Given the description of an element on the screen output the (x, y) to click on. 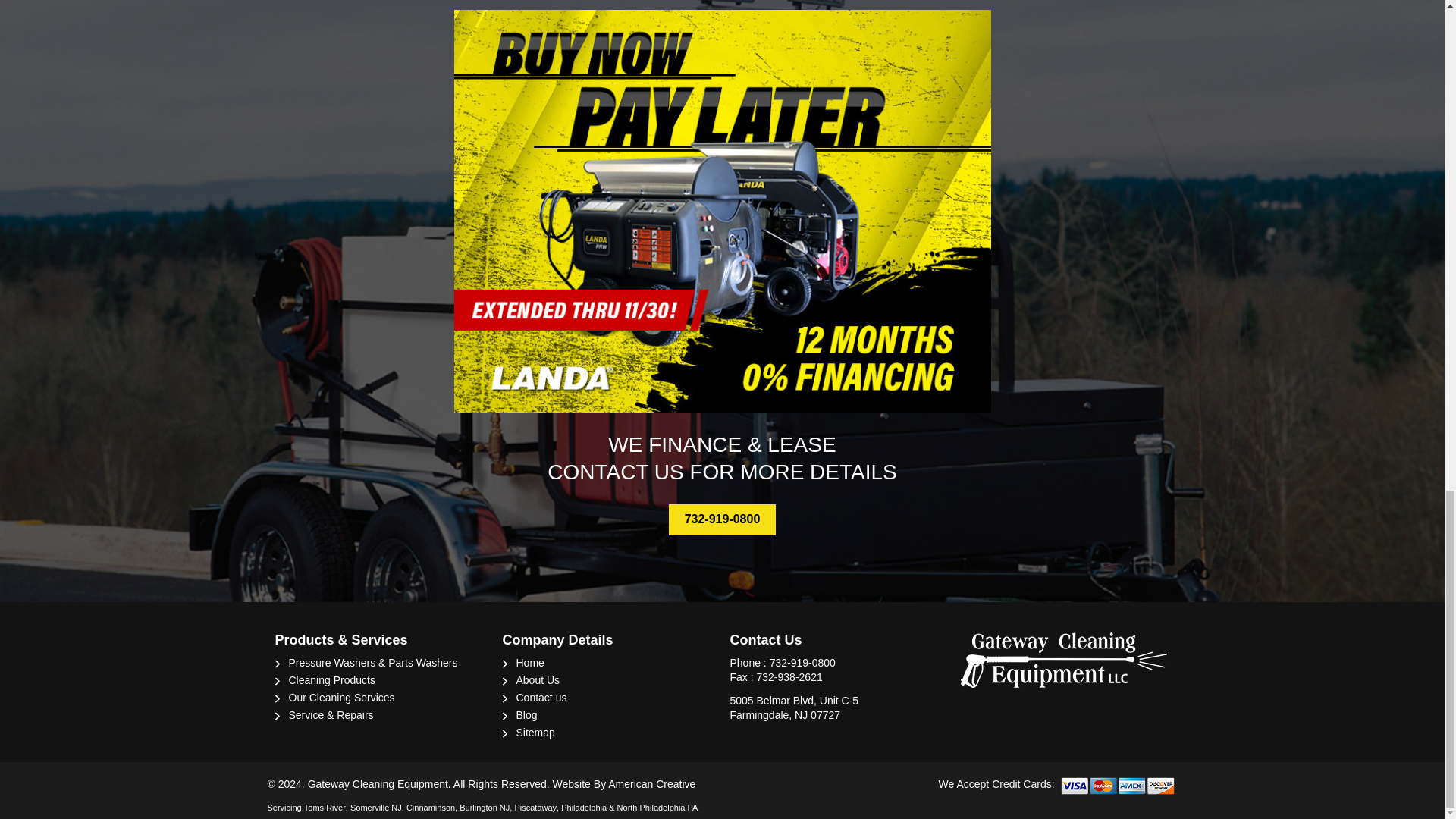
Contact us (540, 697)
Burlington NJ (484, 807)
Home (529, 662)
732-938-2621 (789, 676)
Piscataway (534, 807)
Website Design SEO (624, 784)
North Philadelphia PA (657, 807)
Toms River (325, 807)
732-919-0800 (802, 662)
Cinnaminson, (431, 807)
